Given the description of an element on the screen output the (x, y) to click on. 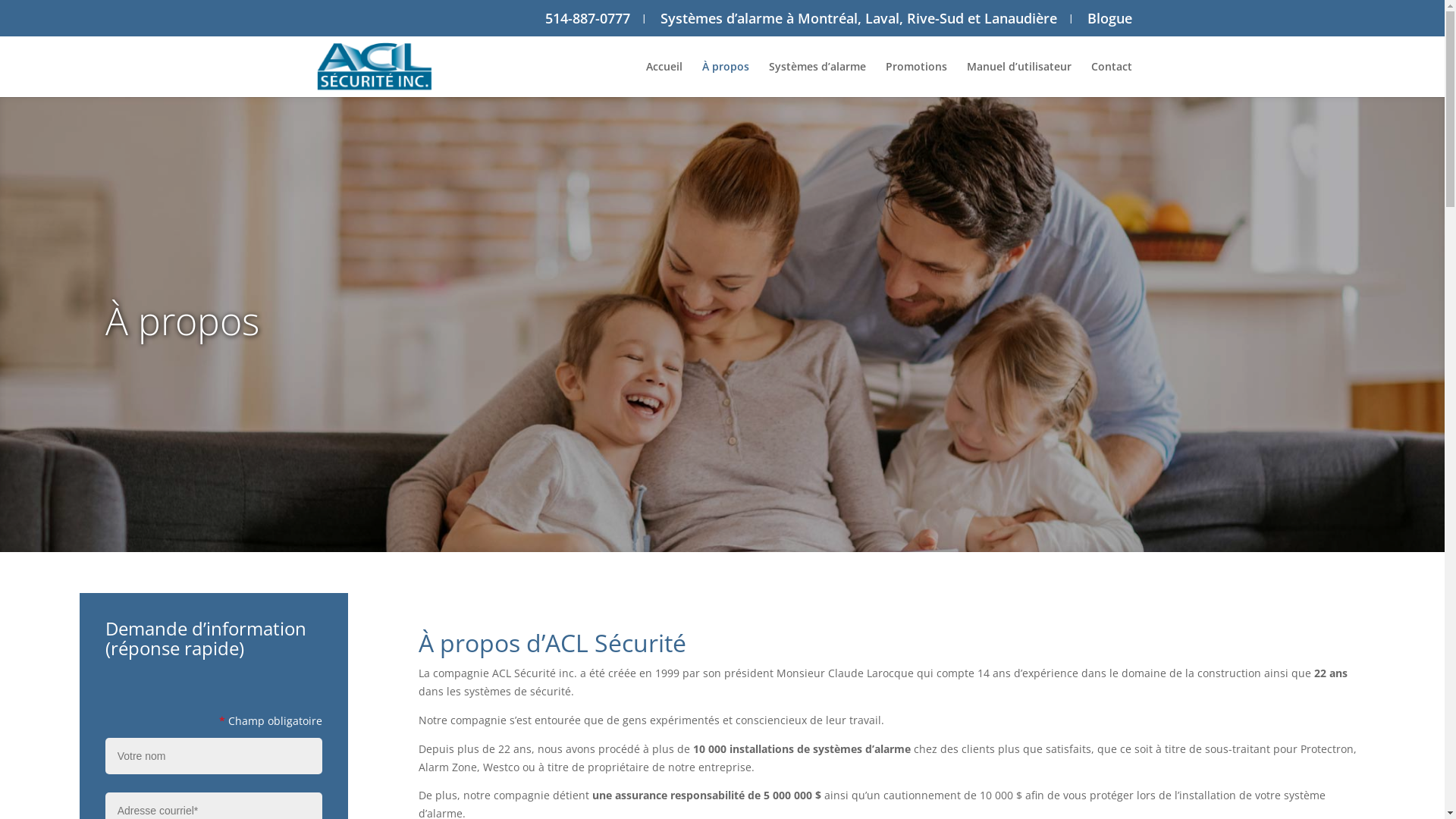
Promotions Element type: text (916, 79)
514-887-0777 Element type: text (586, 17)
Blogue Element type: text (1109, 17)
Contact Element type: text (1110, 79)
Accueil Element type: text (664, 79)
